Given the description of an element on the screen output the (x, y) to click on. 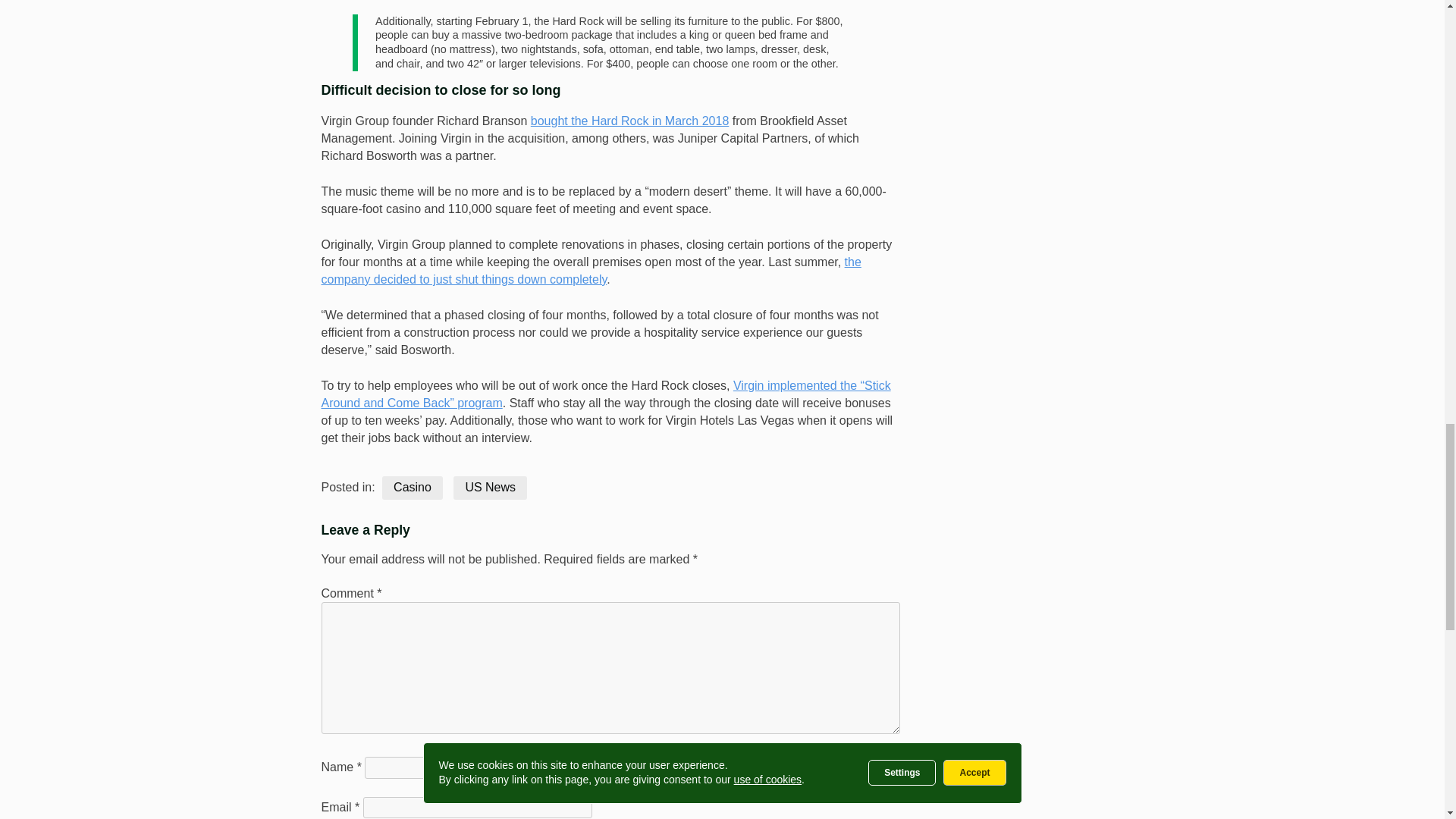
bought the Hard Rock in March 2018 (630, 120)
US News (489, 487)
Casino (411, 487)
the company decided to just shut things down completely (591, 270)
